Given the description of an element on the screen output the (x, y) to click on. 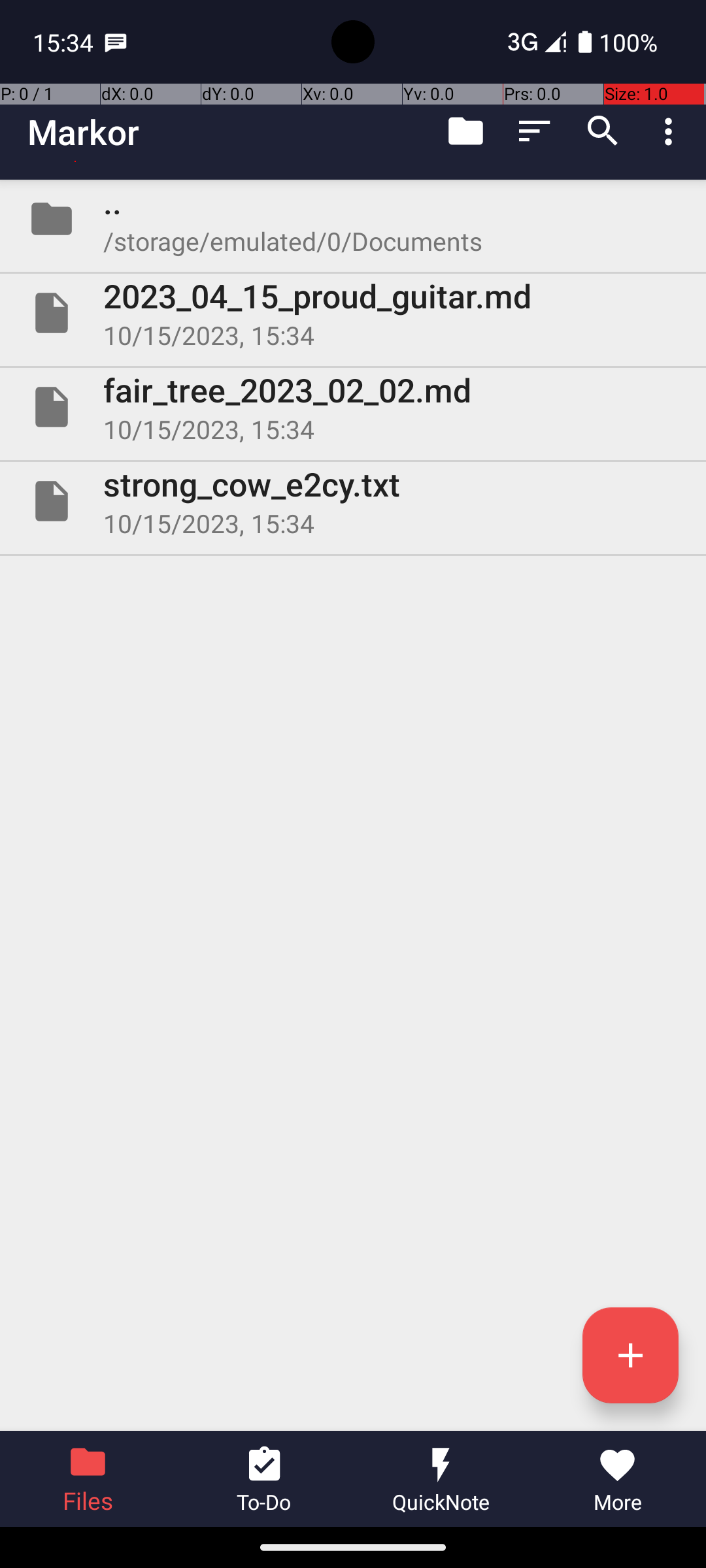
File 2023_04_15_proud_guitar.md  Element type: android.widget.LinearLayout (353, 312)
File fair_tree_2023_02_02.md  Element type: android.widget.LinearLayout (353, 406)
File strong_cow_e2cy.txt  Element type: android.widget.LinearLayout (353, 500)
